Given the description of an element on the screen output the (x, y) to click on. 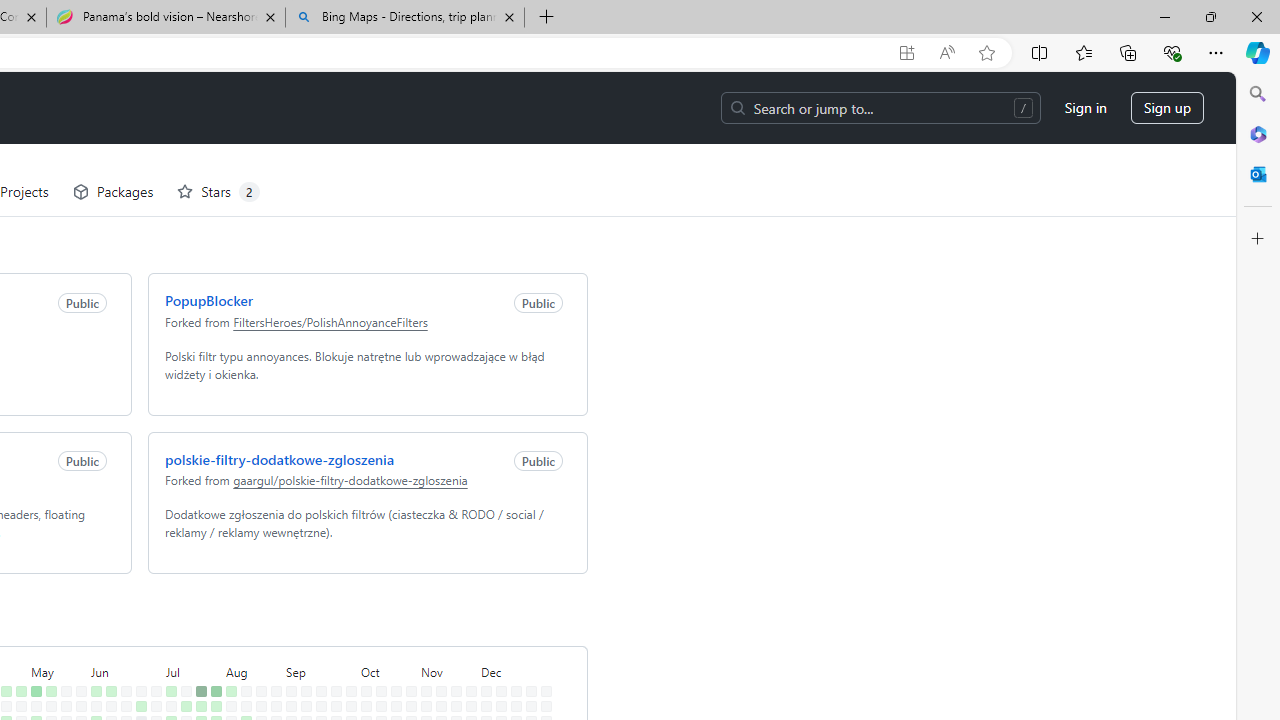
No contributions on October 16th. (377, 664)
No contributions on June 11th. (107, 649)
No contributions on November 20th. (452, 664)
No contributions on December 5th. (482, 678)
No contributions on October 7th. (362, 634)
7 contributions on July 28th. (212, 619)
No contributions on July 14th. (182, 619)
No contributions on June 19th. (122, 664)
No contributions on November 4th. (422, 634)
2 contributions on July 9th. (167, 649)
No contributions on December 23rd. (527, 634)
1 contribution on August 21st. (257, 664)
No contributions on April 30th. (17, 649)
No contributions on October 10th. (362, 678)
